Given the description of an element on the screen output the (x, y) to click on. 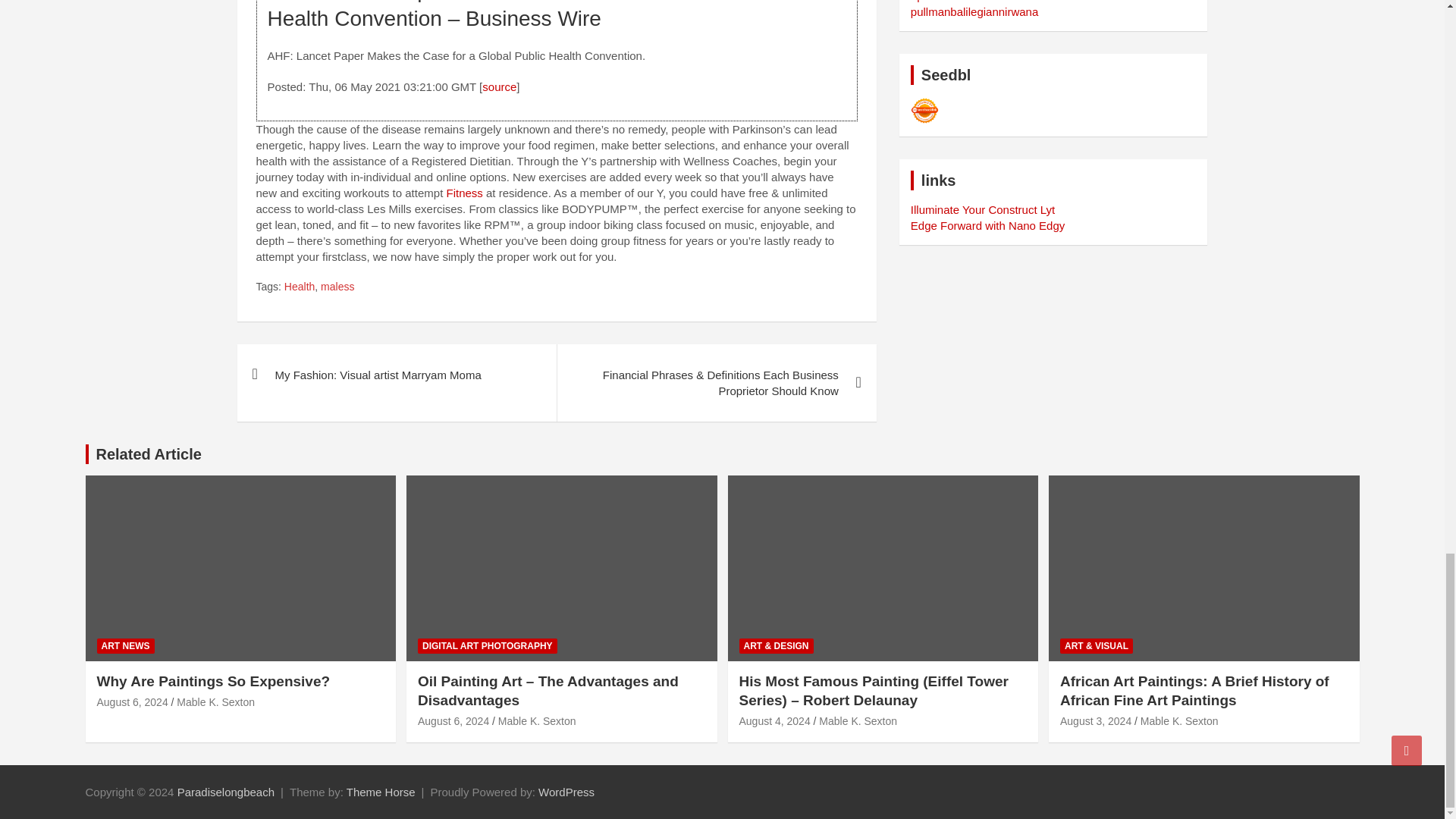
Seedbacklink (925, 110)
Health (298, 287)
Fitness (463, 192)
source (498, 86)
Why Are Paintings So Expensive? (132, 702)
My Fashion: Visual artist Marryam Moma (395, 374)
maless (336, 287)
